Given the description of an element on the screen output the (x, y) to click on. 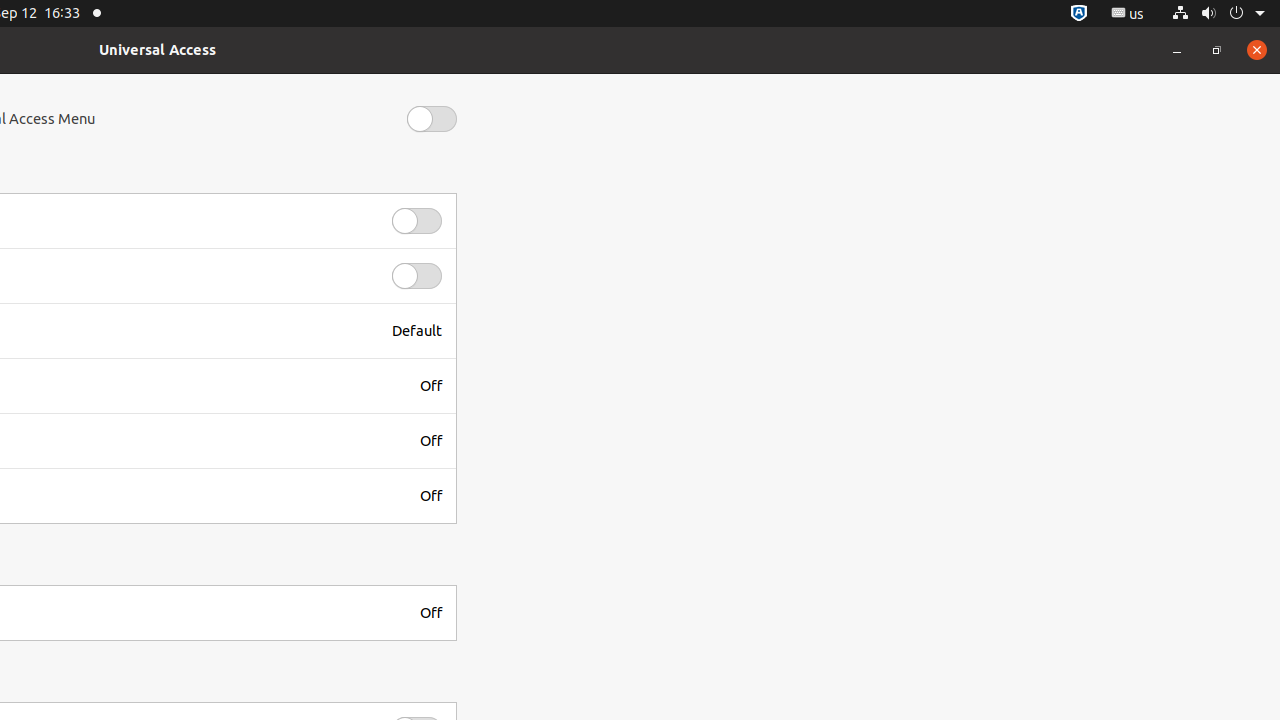
Default Element type: label (417, 331)
Restore Element type: push-button (1217, 50)
Off Element type: label (431, 386)
